Given the description of an element on the screen output the (x, y) to click on. 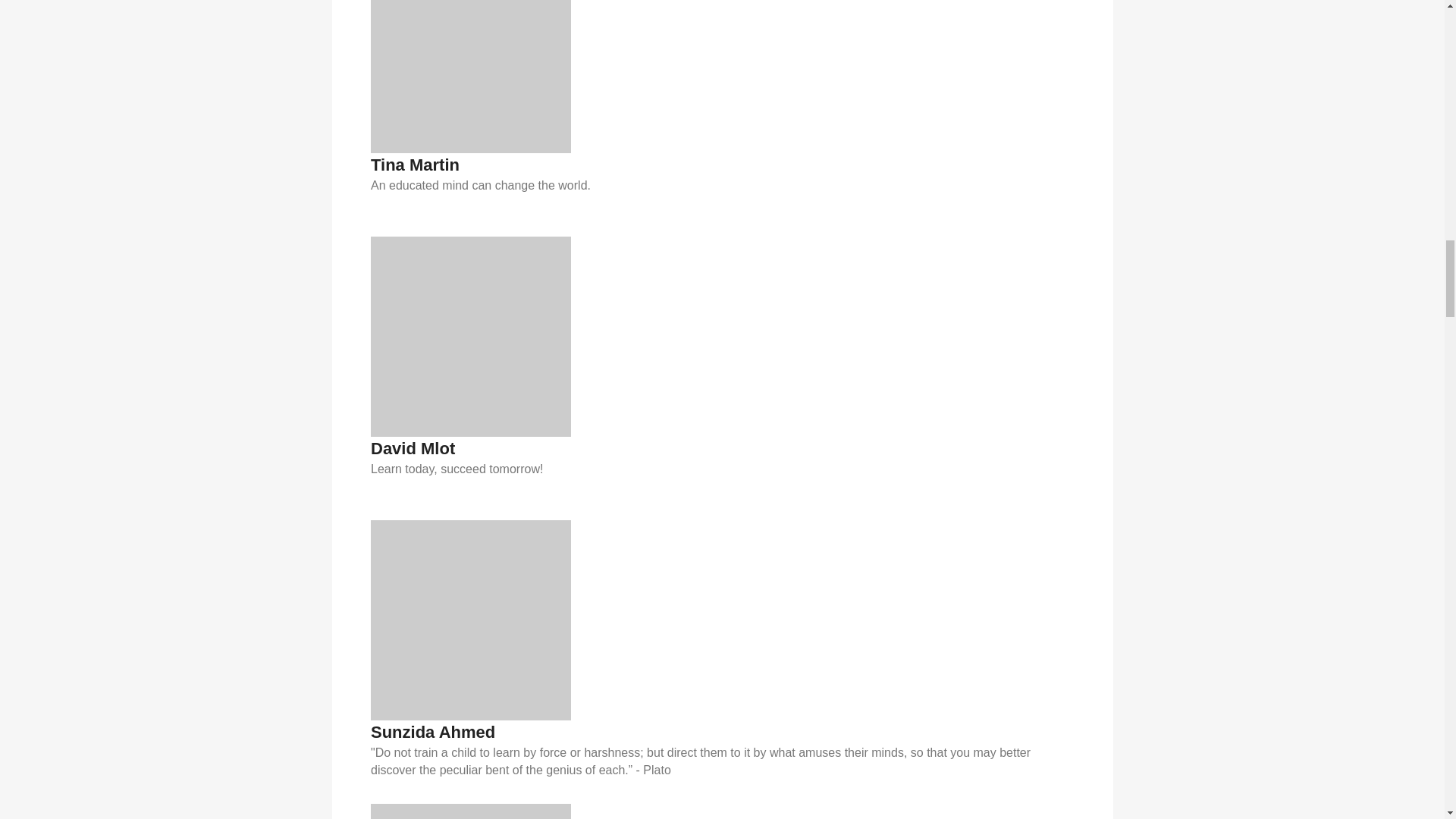
Learn today, succeed tomorrow! (722, 469)
An educated mind can change the world. (722, 185)
